Given the description of an element on the screen output the (x, y) to click on. 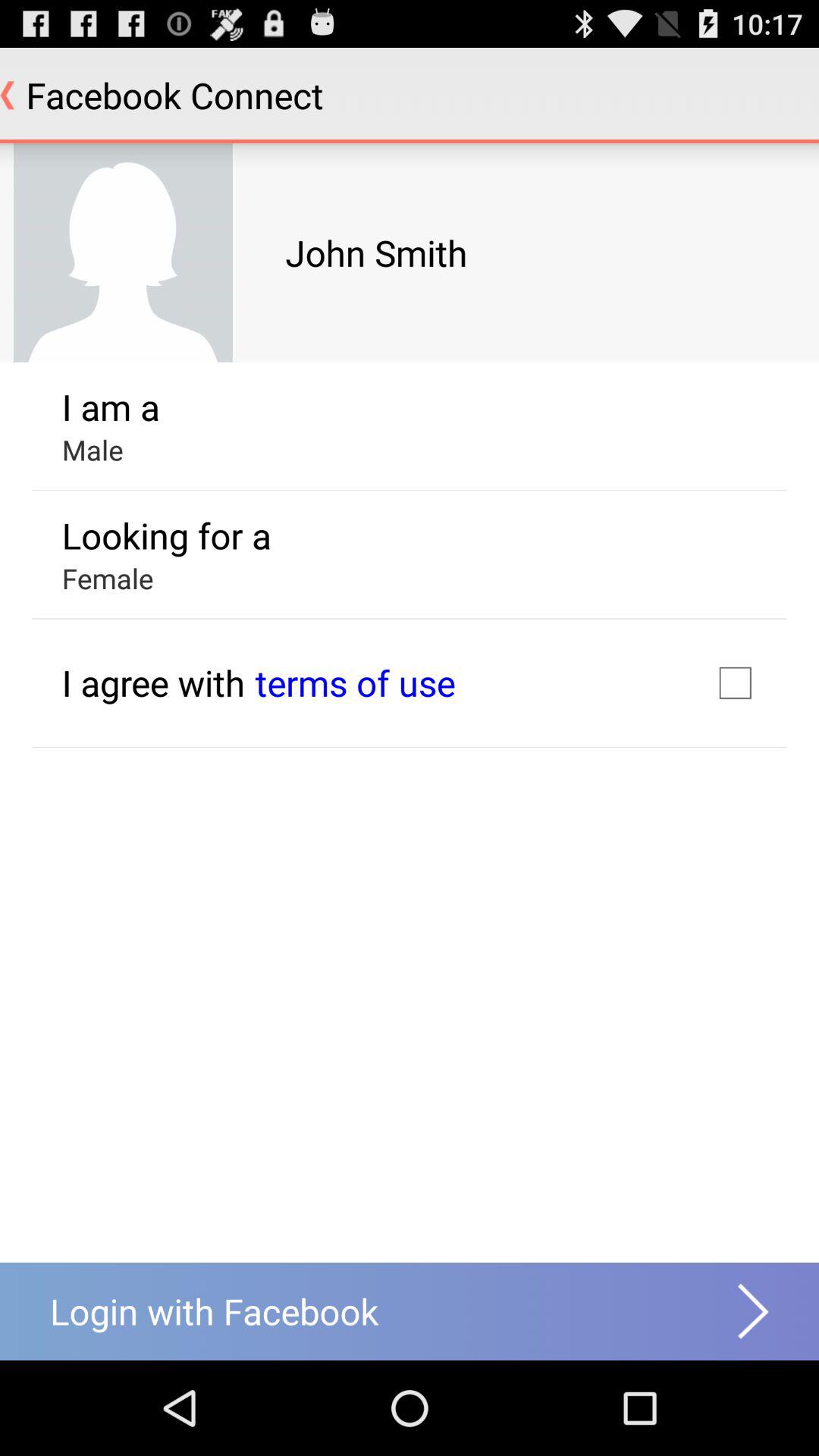
scroll to the terms of use app (355, 682)
